Given the description of an element on the screen output the (x, y) to click on. 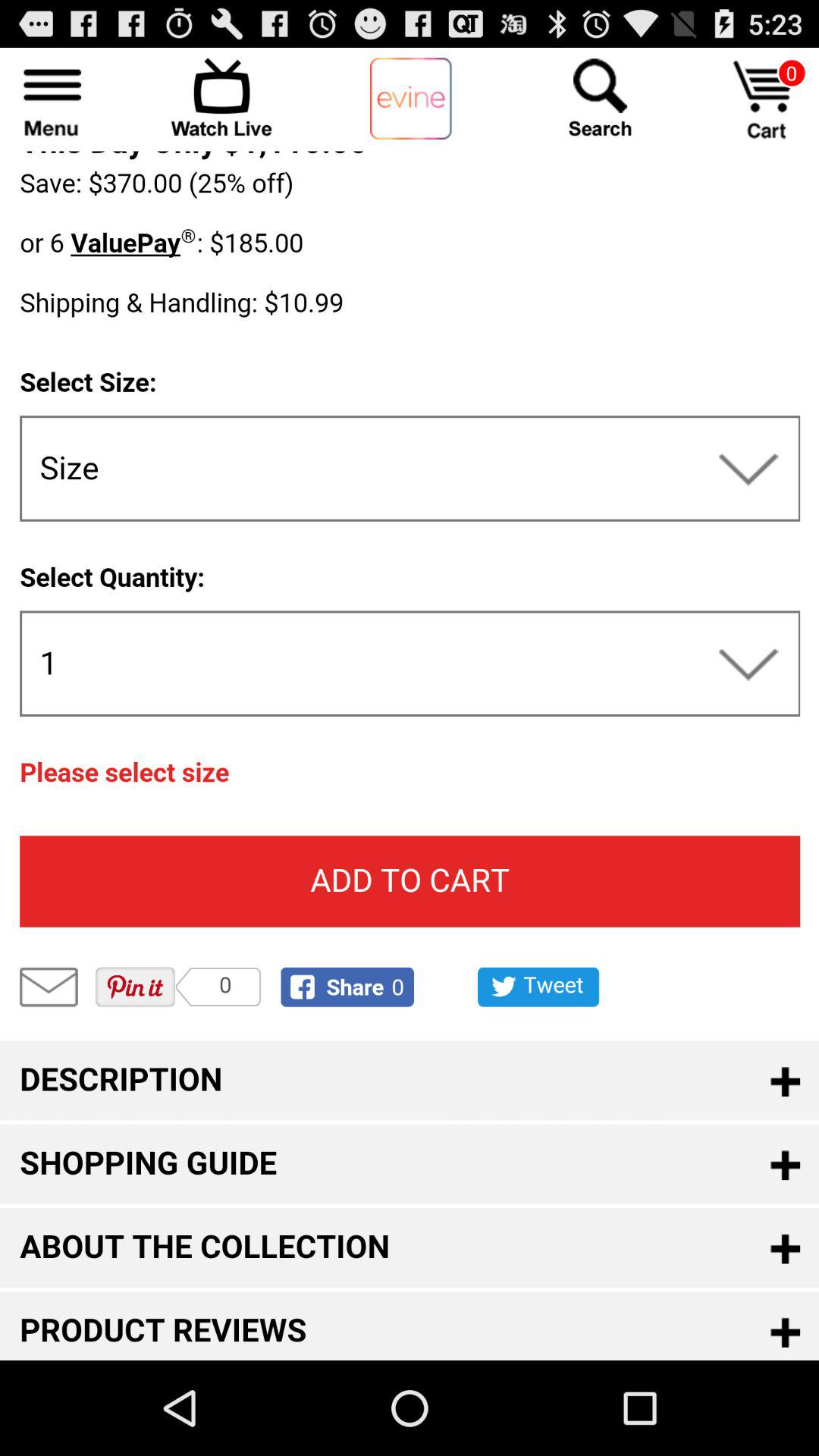
shopping cart (766, 99)
